Given the description of an element on the screen output the (x, y) to click on. 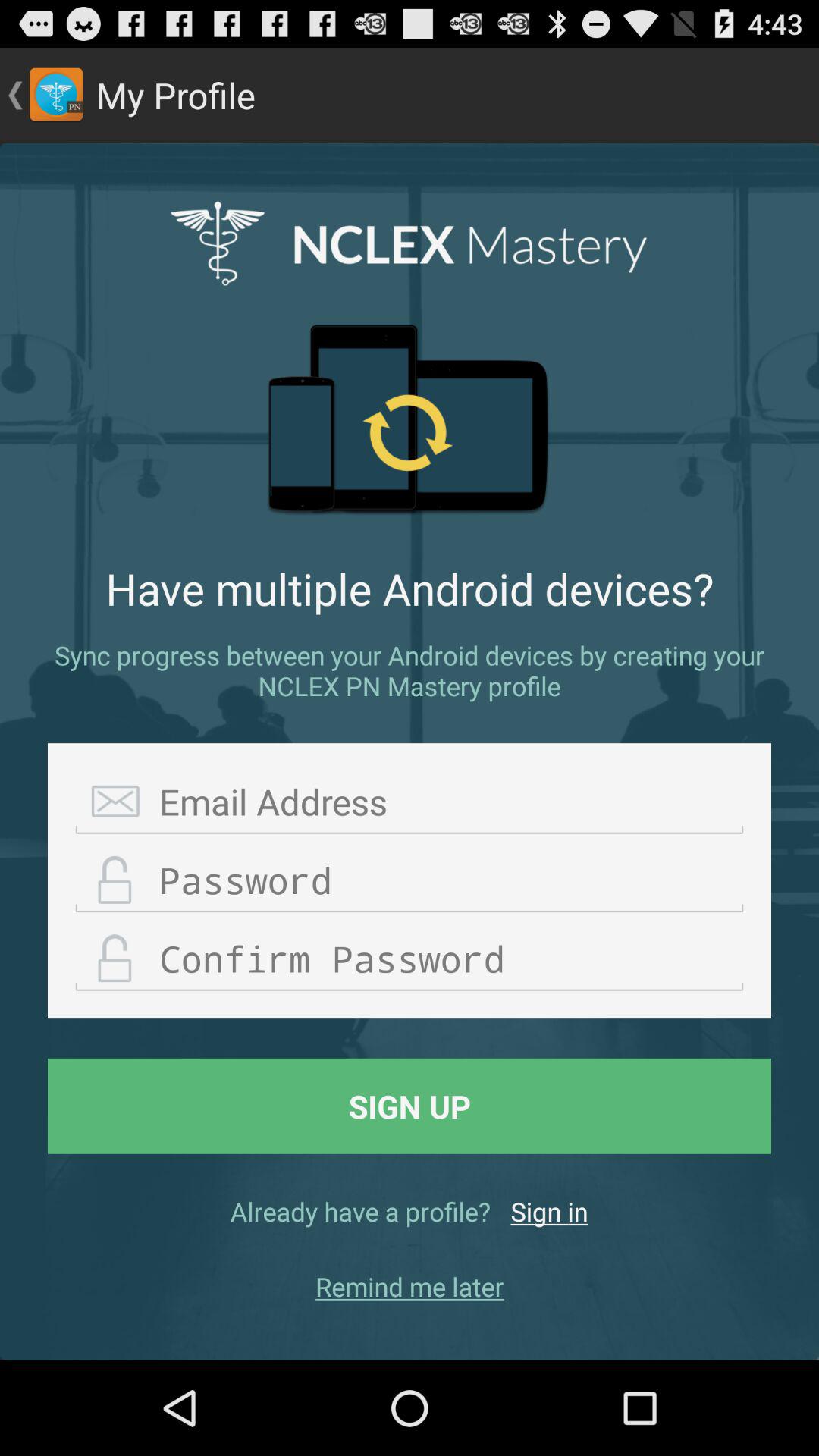
choose password (409, 880)
